Given the description of an element on the screen output the (x, y) to click on. 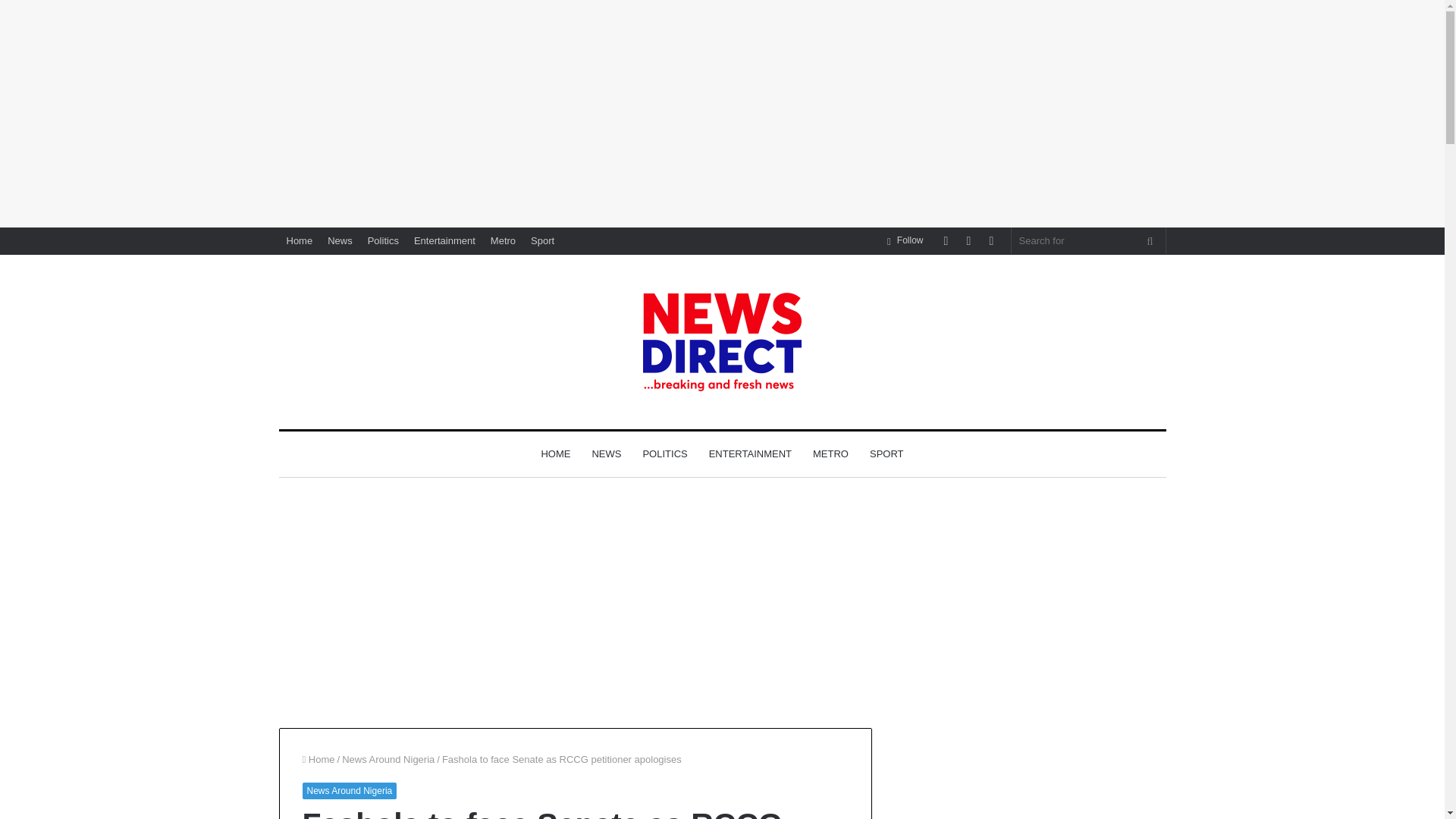
HOME (554, 453)
Newsdirect (722, 341)
Follow (905, 240)
Search for (1150, 240)
News Around Nigeria (348, 790)
Politics (382, 240)
Entertainment (444, 240)
METRO (830, 453)
Metro (502, 240)
POLITICS (664, 453)
SPORT (886, 453)
Home (299, 240)
Search for (1088, 240)
NEWS (605, 453)
